Given the description of an element on the screen output the (x, y) to click on. 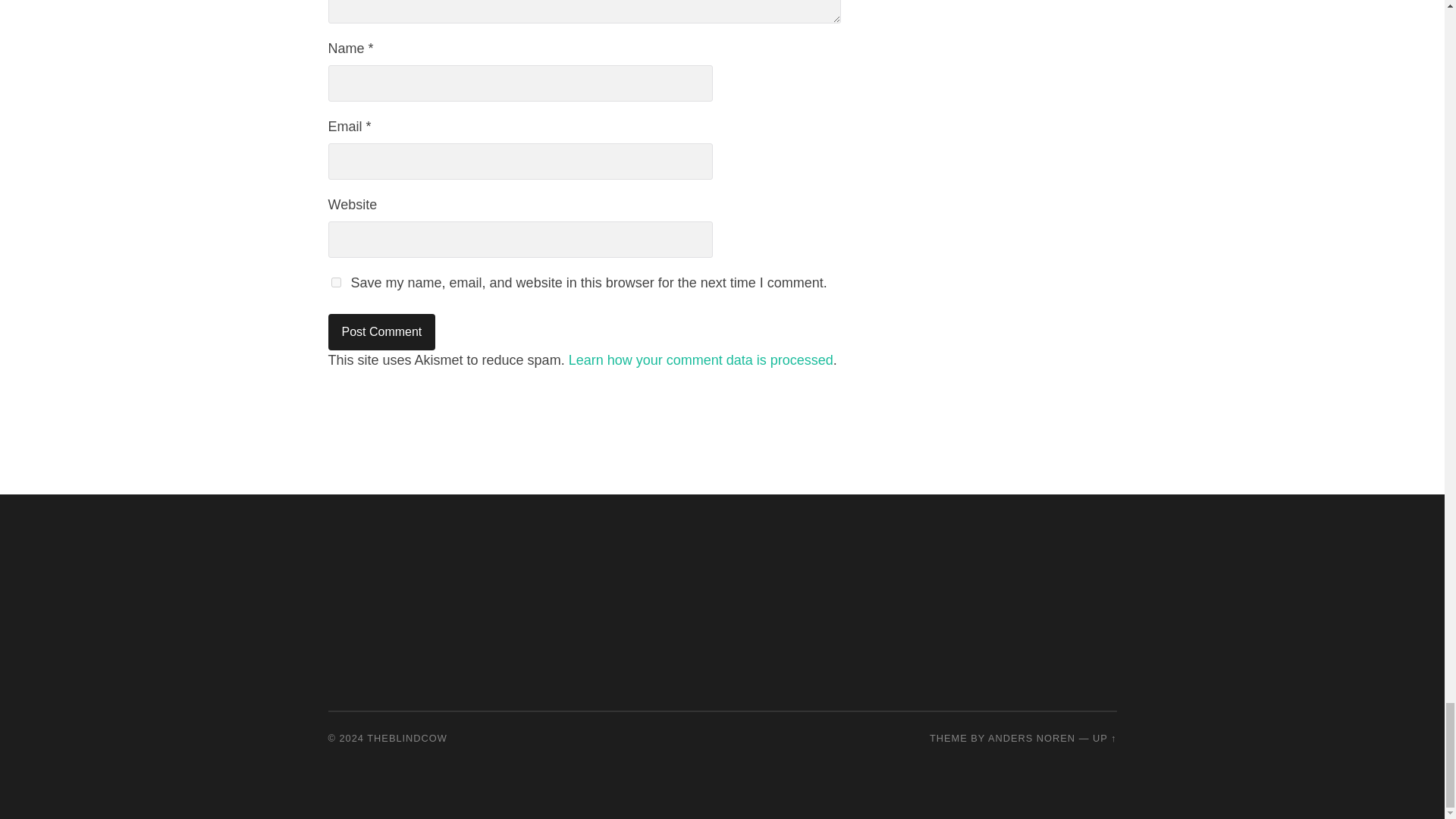
Post Comment (381, 331)
Post Comment (381, 331)
Learn how your comment data is processed (700, 359)
yes (335, 282)
